Given the description of an element on the screen output the (x, y) to click on. 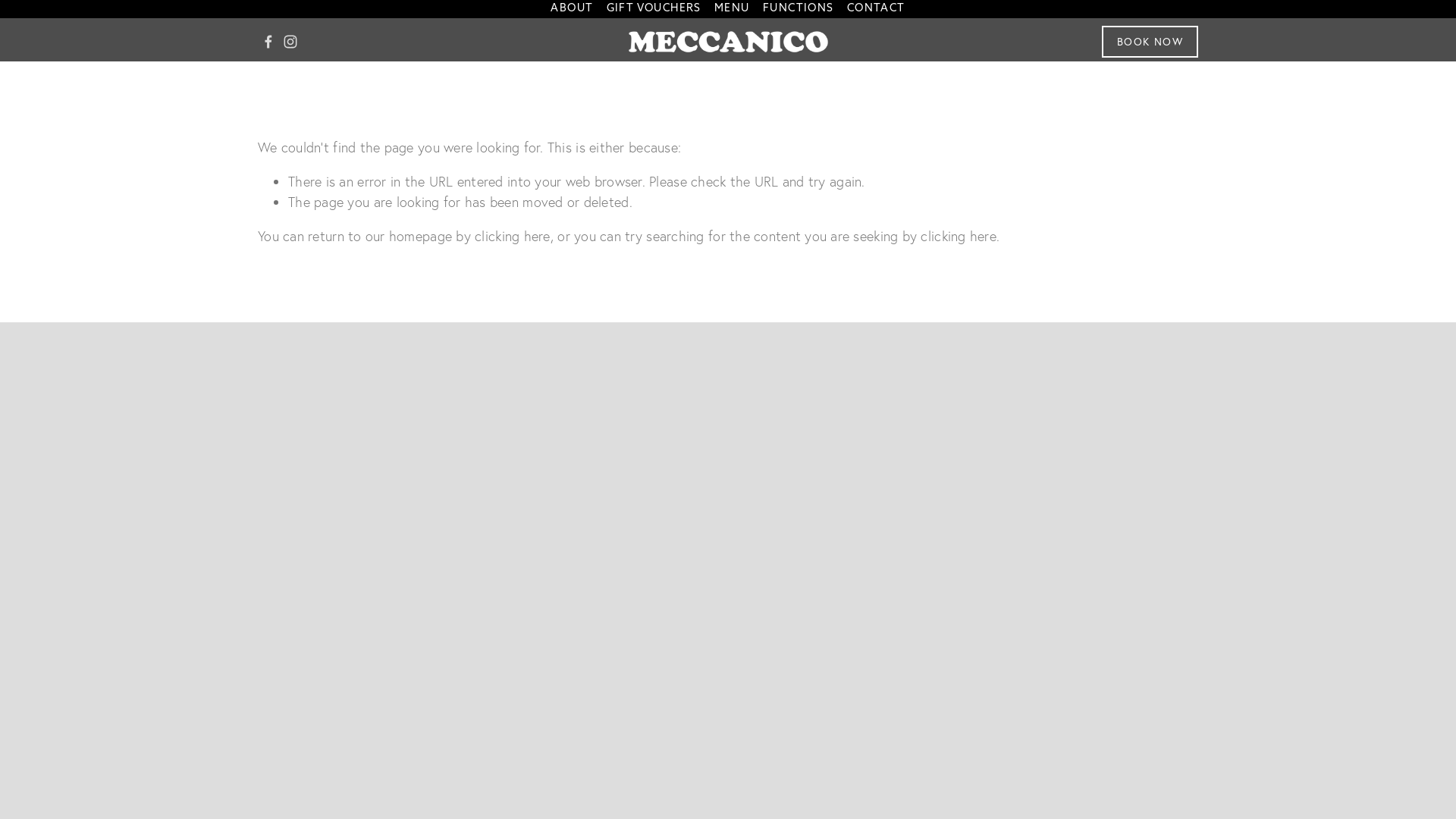
clicking here Element type: text (512, 235)
clicking here Element type: text (958, 235)
BOOK NOW Element type: text (1149, 41)
